Given the description of an element on the screen output the (x, y) to click on. 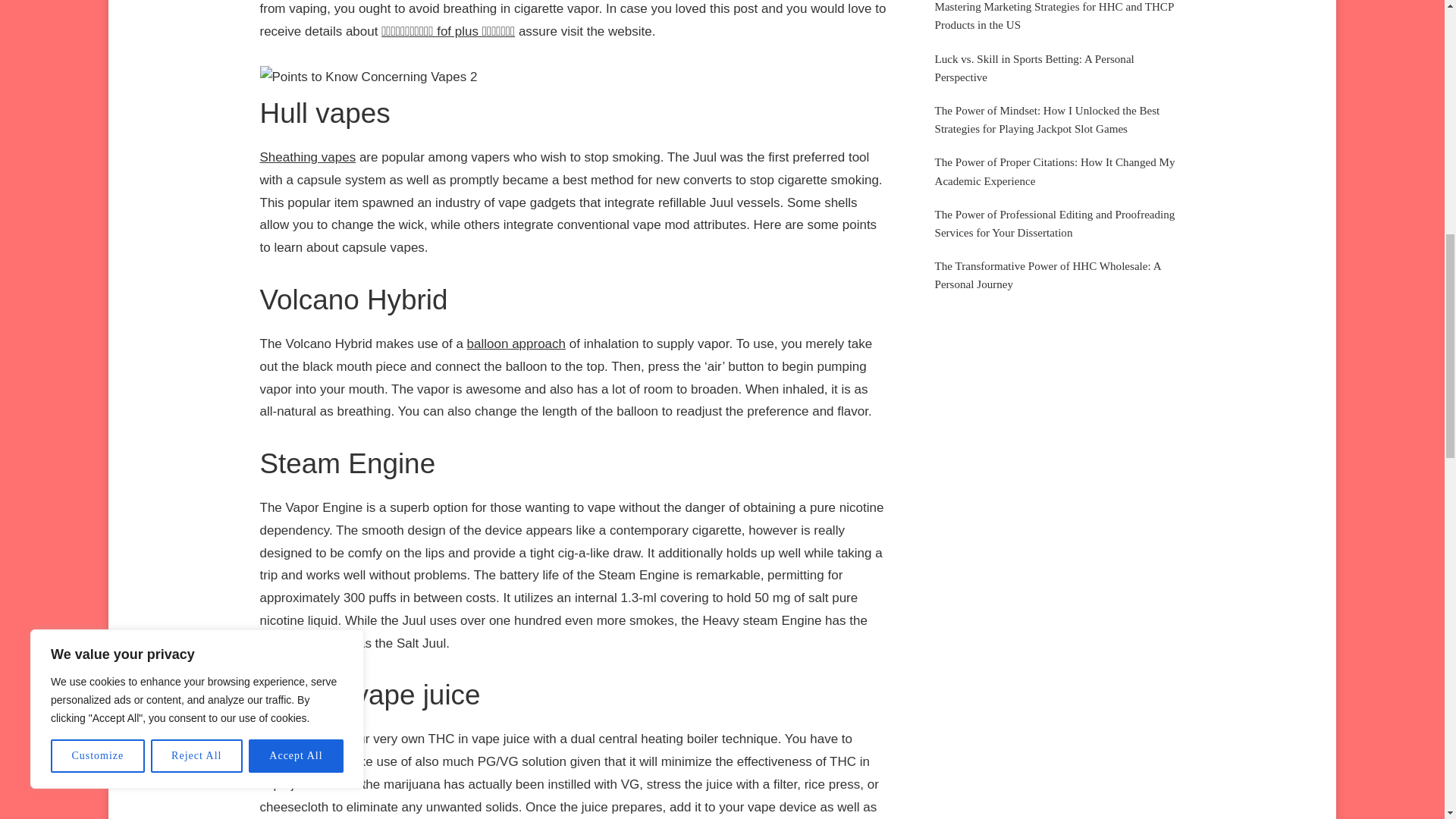
balloon approach (516, 343)
Sheathing vapes (307, 156)
